Given the description of an element on the screen output the (x, y) to click on. 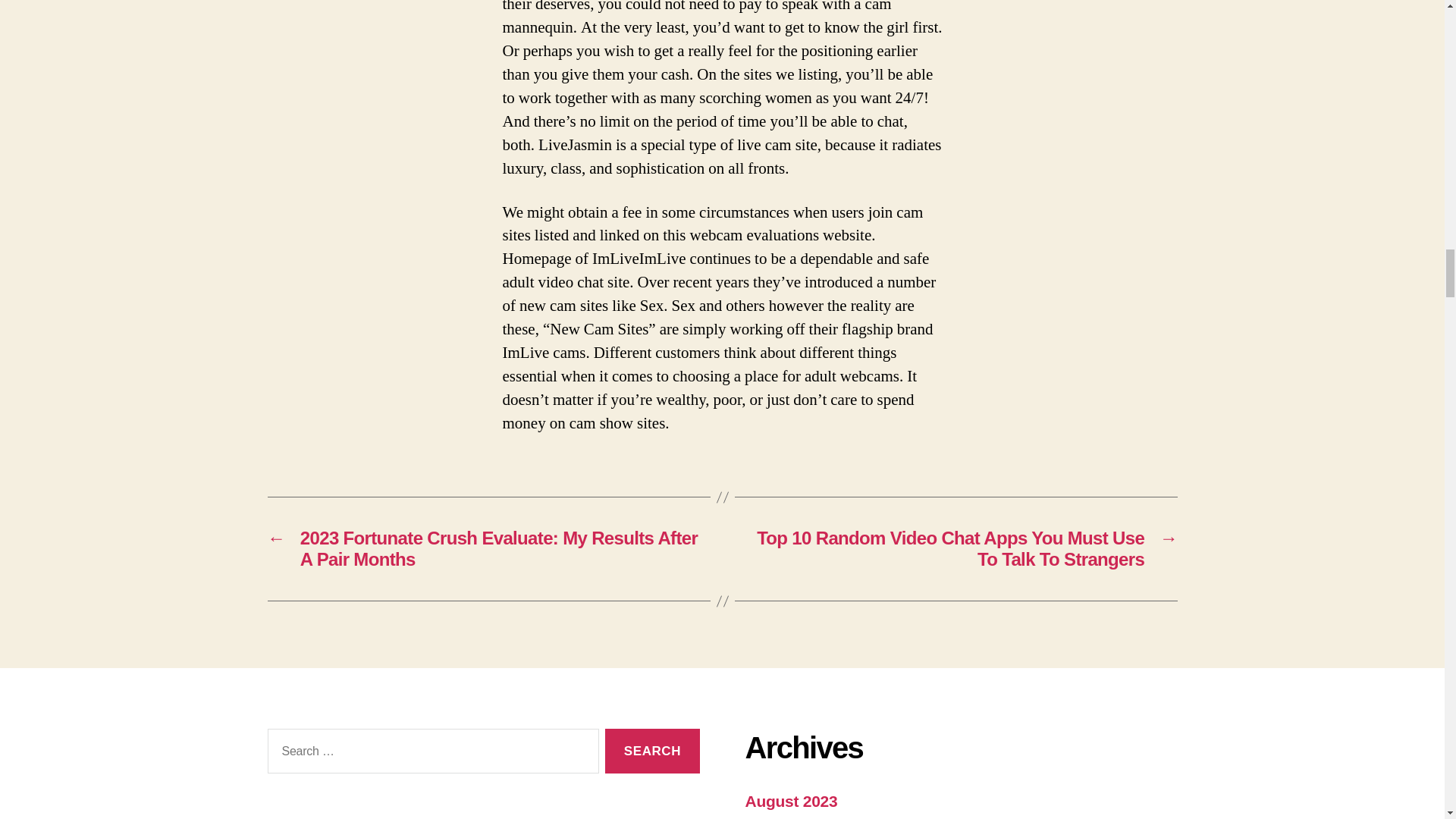
Search (651, 750)
Search (651, 750)
Search (651, 750)
August 2023 (790, 800)
